Given the description of an element on the screen output the (x, y) to click on. 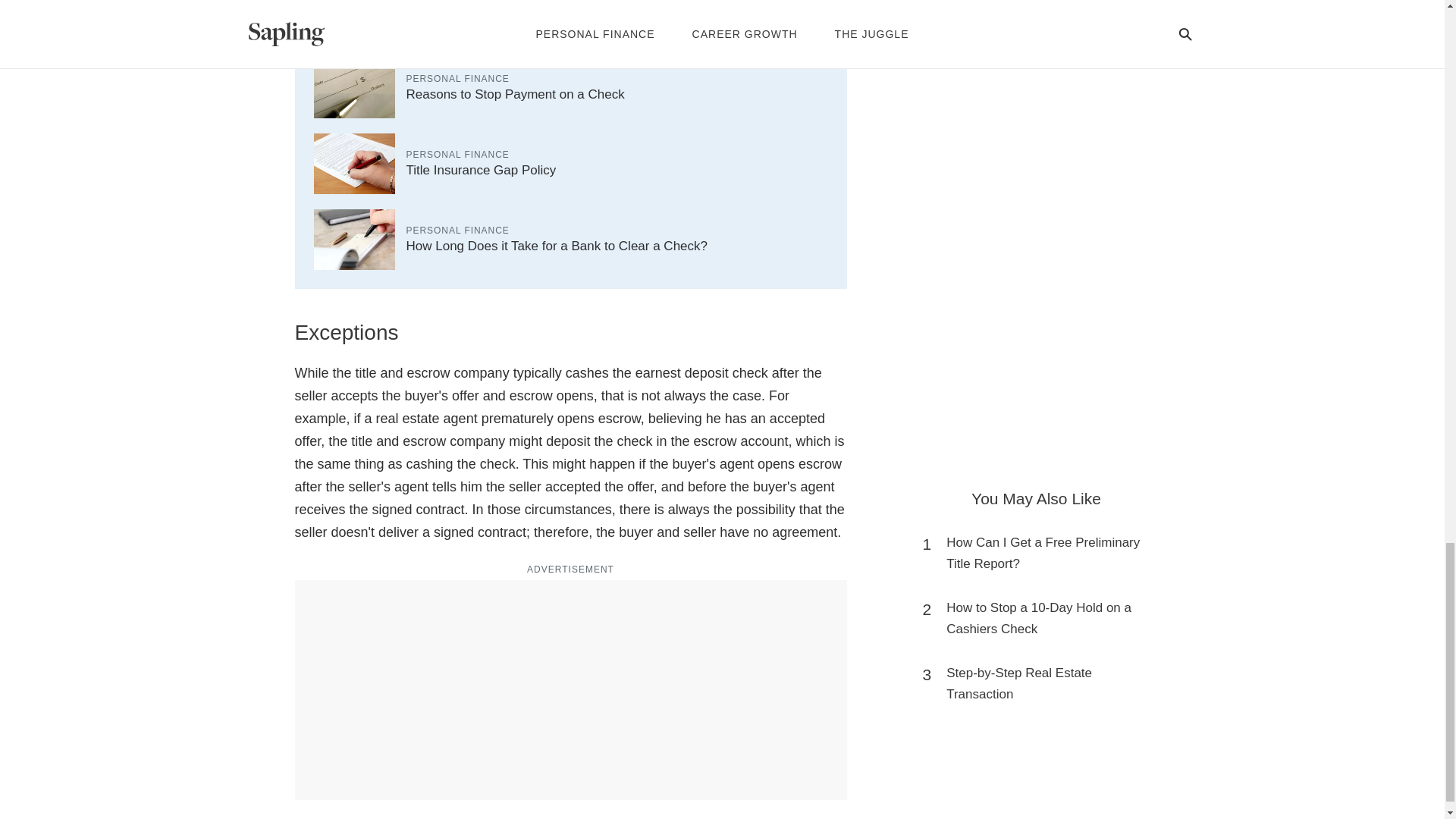
Reasons to Stop Payment on a Check (515, 93)
Step-by-Step Real Estate Transaction (1043, 683)
Title Insurance Gap Policy (481, 169)
How Long Does it Take for a Bank to Clear a Check? (556, 246)
How Can I Get a Free Preliminary Title Report? (1043, 553)
How to Stop a 10-Day Hold on a Cashiers Check (1043, 618)
